Given the description of an element on the screen output the (x, y) to click on. 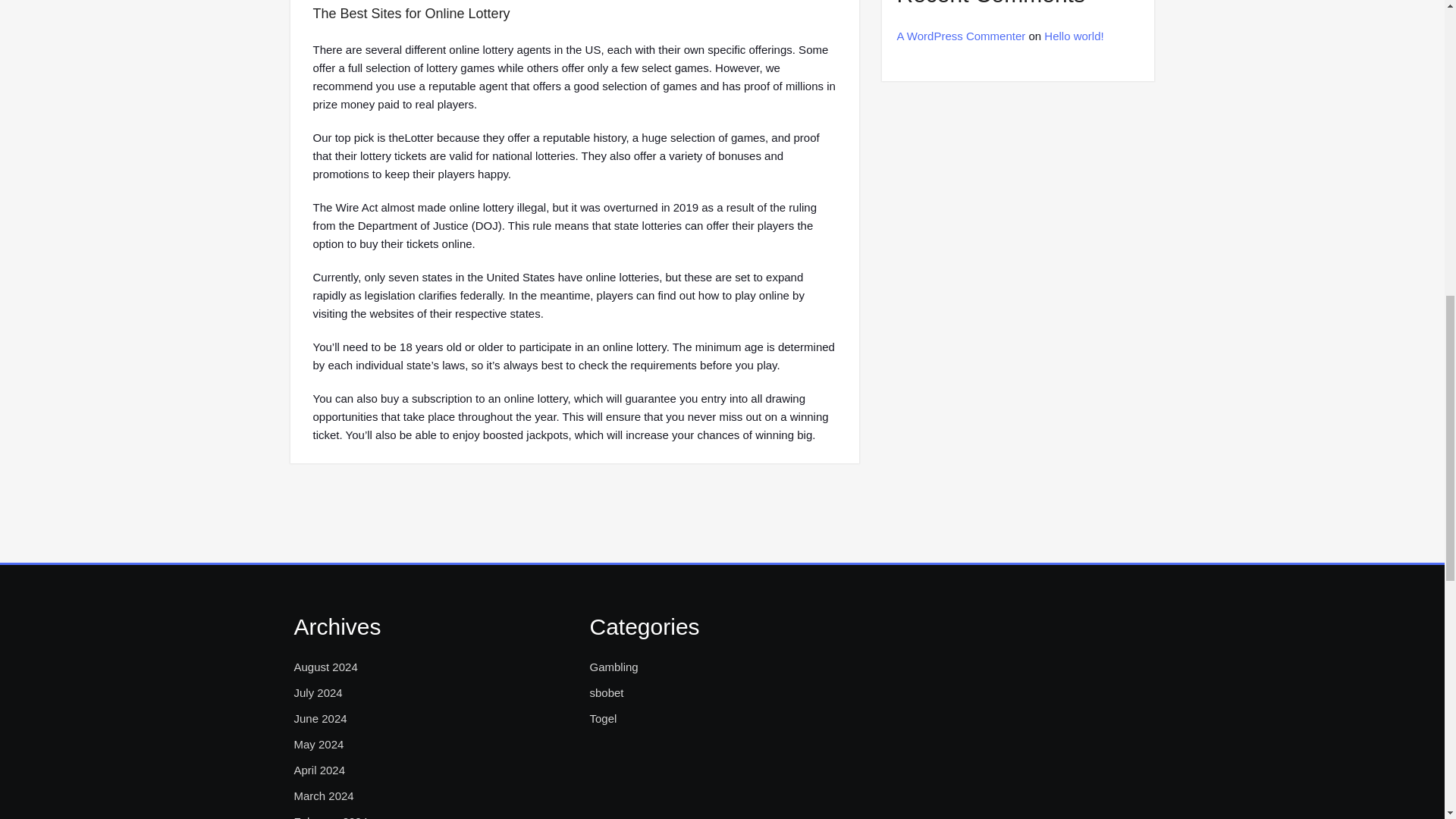
June 2024 (320, 719)
July 2024 (318, 692)
March 2024 (323, 796)
A WordPress Commenter (960, 35)
May 2024 (318, 744)
April 2024 (320, 770)
February 2024 (331, 816)
Hello world! (1073, 35)
August 2024 (326, 667)
